Given the description of an element on the screen output the (x, y) to click on. 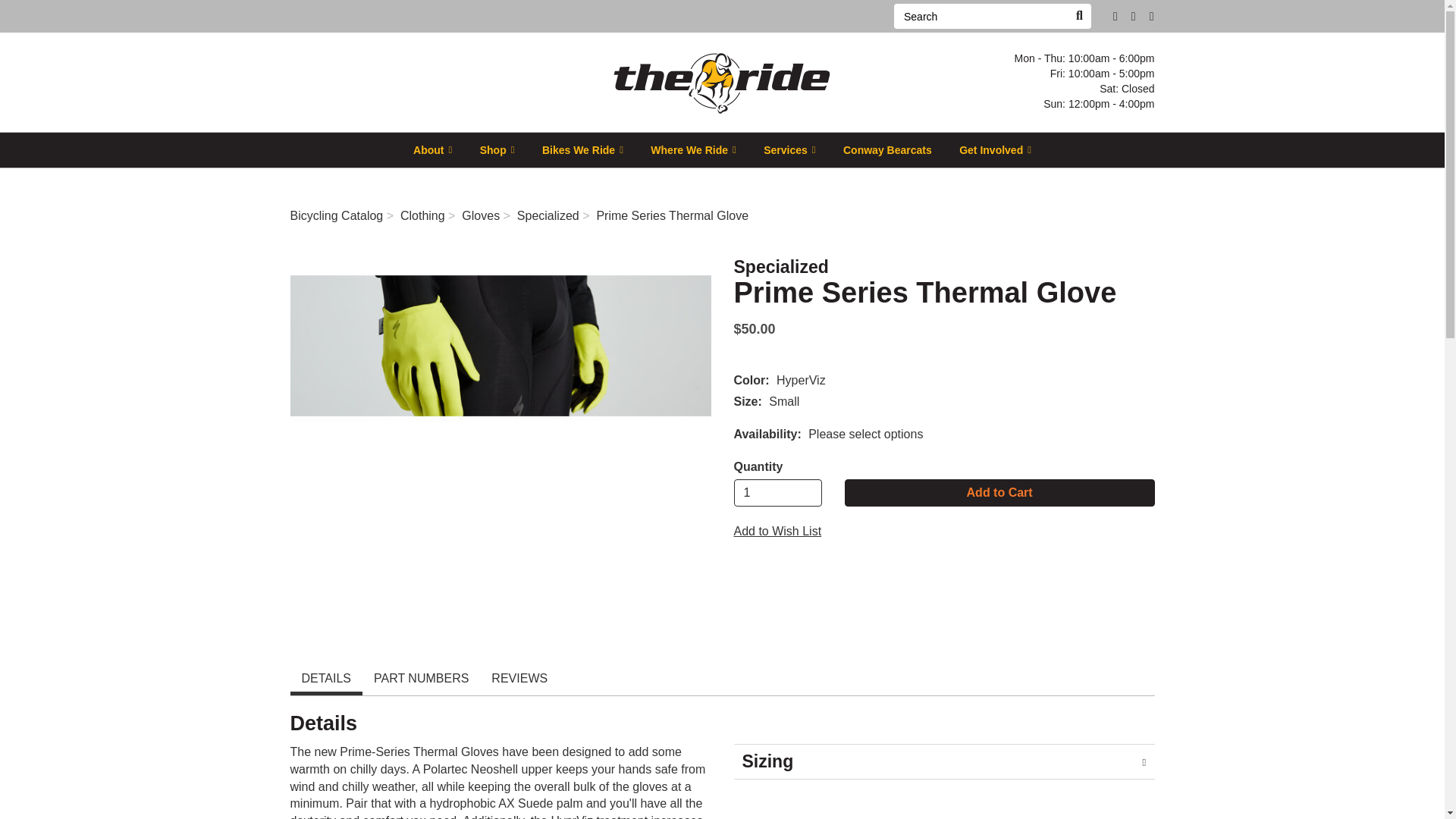
1 (777, 492)
Search (980, 16)
Specialized Prime Series Thermal Glove (499, 345)
About (432, 149)
Shop (496, 149)
The Ride Home Page (721, 80)
Search (1078, 16)
